Given the description of an element on the screen output the (x, y) to click on. 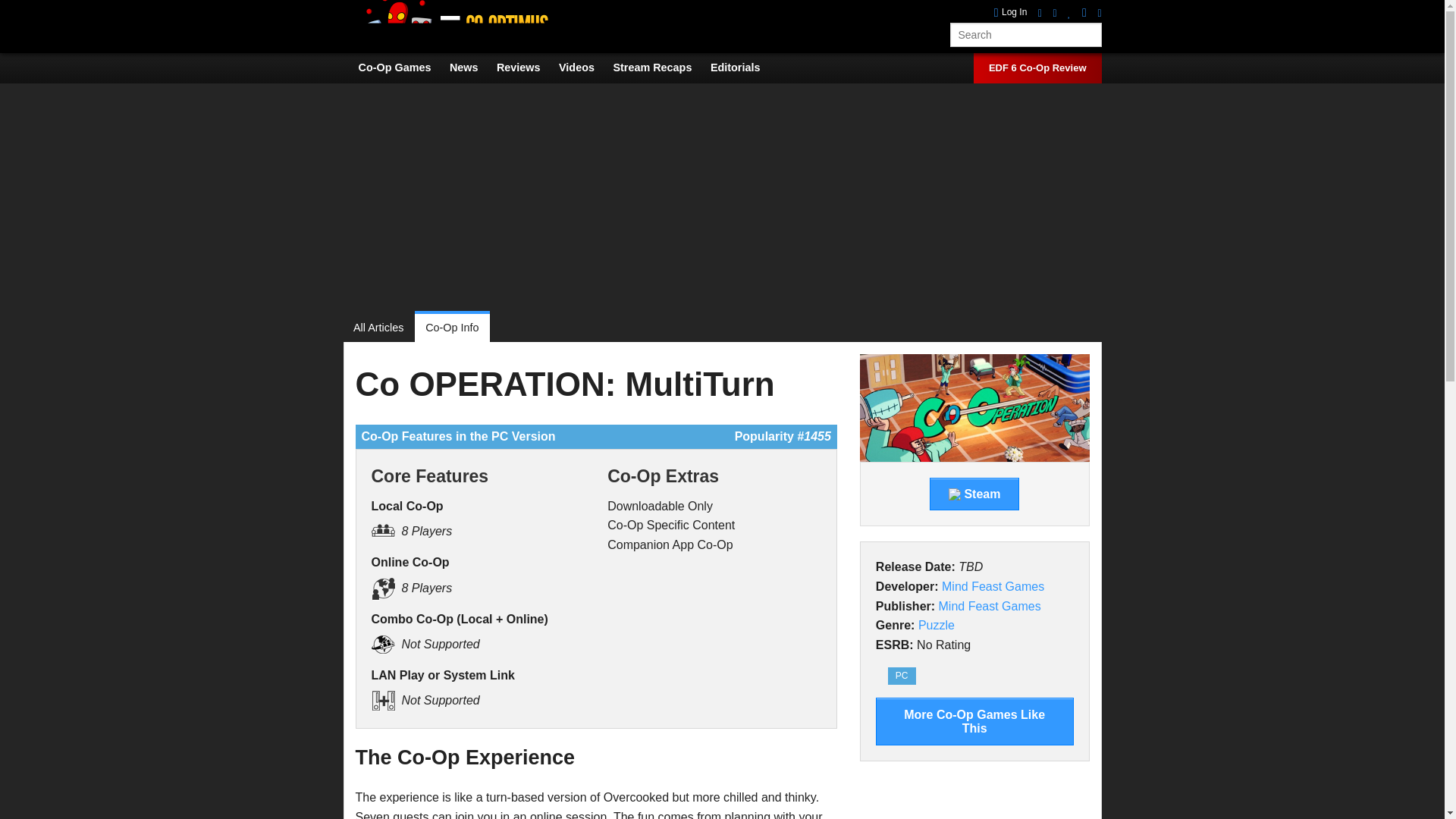
Co-Op Info (451, 327)
All Articles (383, 327)
Steam (974, 494)
Date in which the game was first playable in co-op (915, 566)
Puzzle (936, 625)
Mind Feast Games (990, 605)
Weekly Video Streams and VODs from Co-Optimus (659, 67)
Mind Feast Games (992, 585)
Stream Recaps (659, 67)
EDF 6 Co-Op Review (1037, 67)
